Given the description of an element on the screen output the (x, y) to click on. 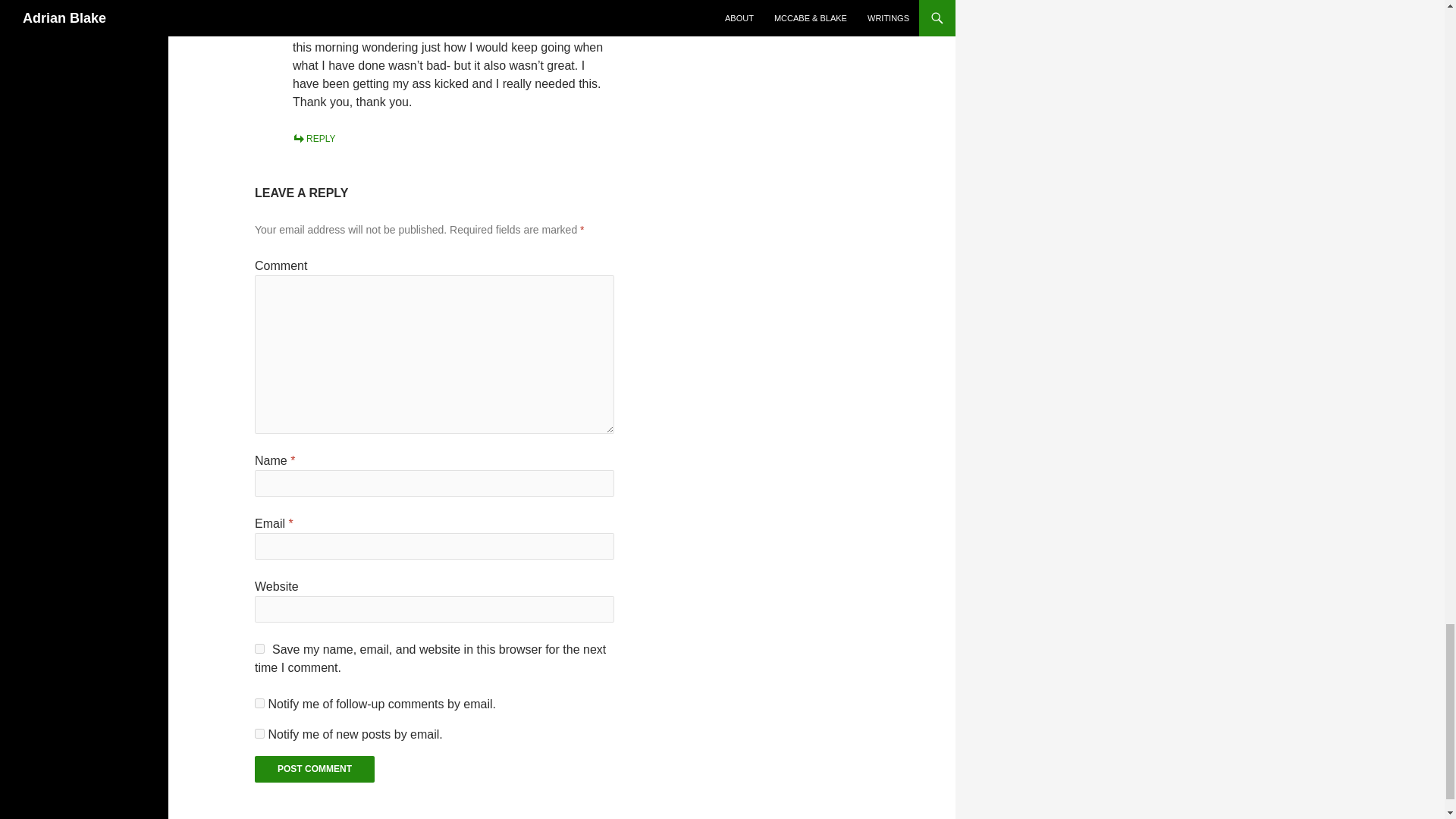
Post Comment (314, 768)
subscribe (259, 703)
MARCH 24, 2014 AT 6:54 AM (352, 10)
yes (259, 648)
subscribe (259, 733)
